Given the description of an element on the screen output the (x, y) to click on. 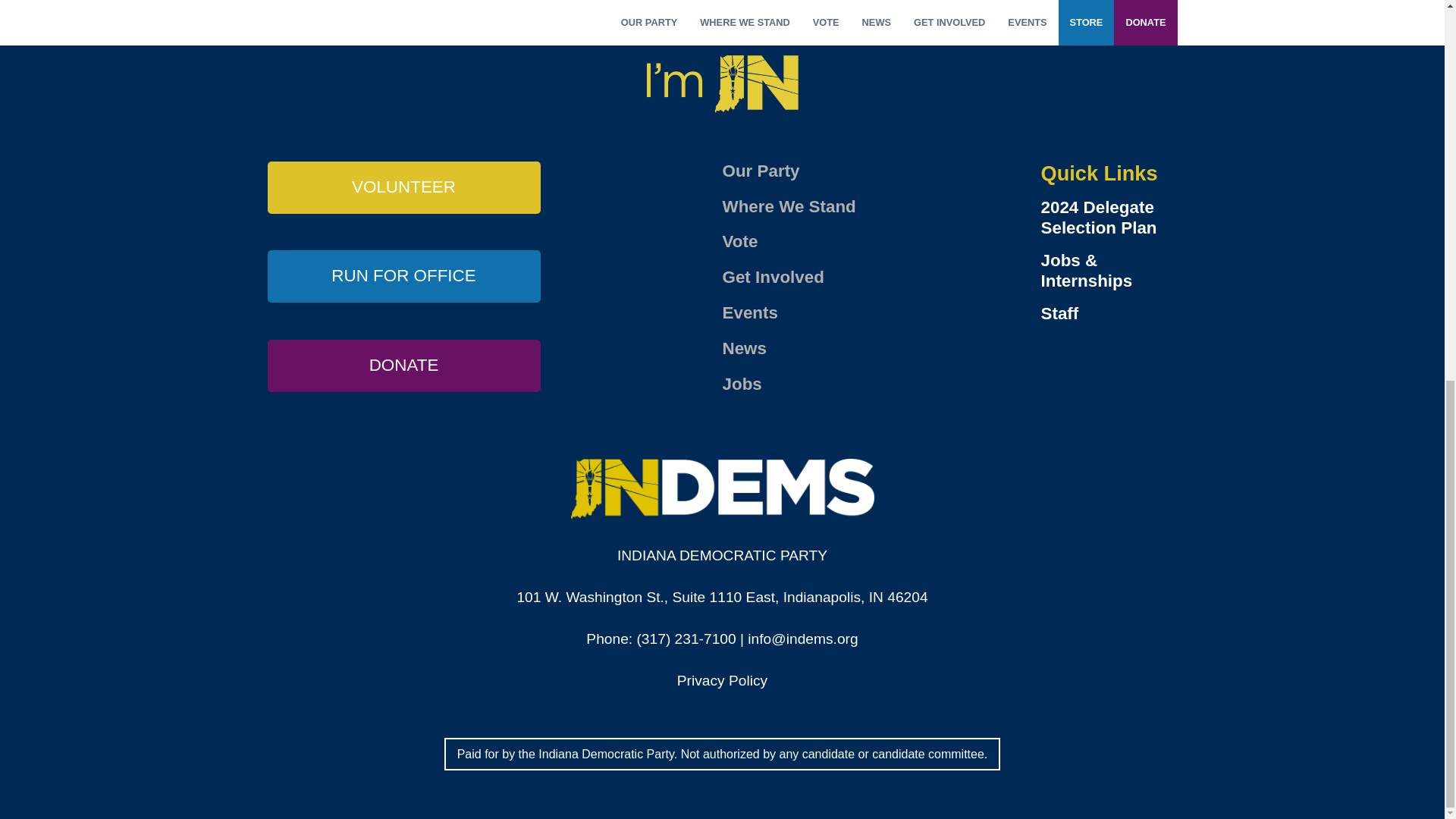
Where We Stand (789, 206)
Jobs (741, 383)
Vote (739, 240)
2024 Delegate Selection Plan (1108, 218)
Our Party (760, 170)
Staff (1108, 313)
Get Involved (773, 276)
News (744, 348)
DONATE (403, 365)
RUN FOR OFFICE (403, 276)
Events (749, 312)
VOLUNTEER (403, 187)
